Given the description of an element on the screen output the (x, y) to click on. 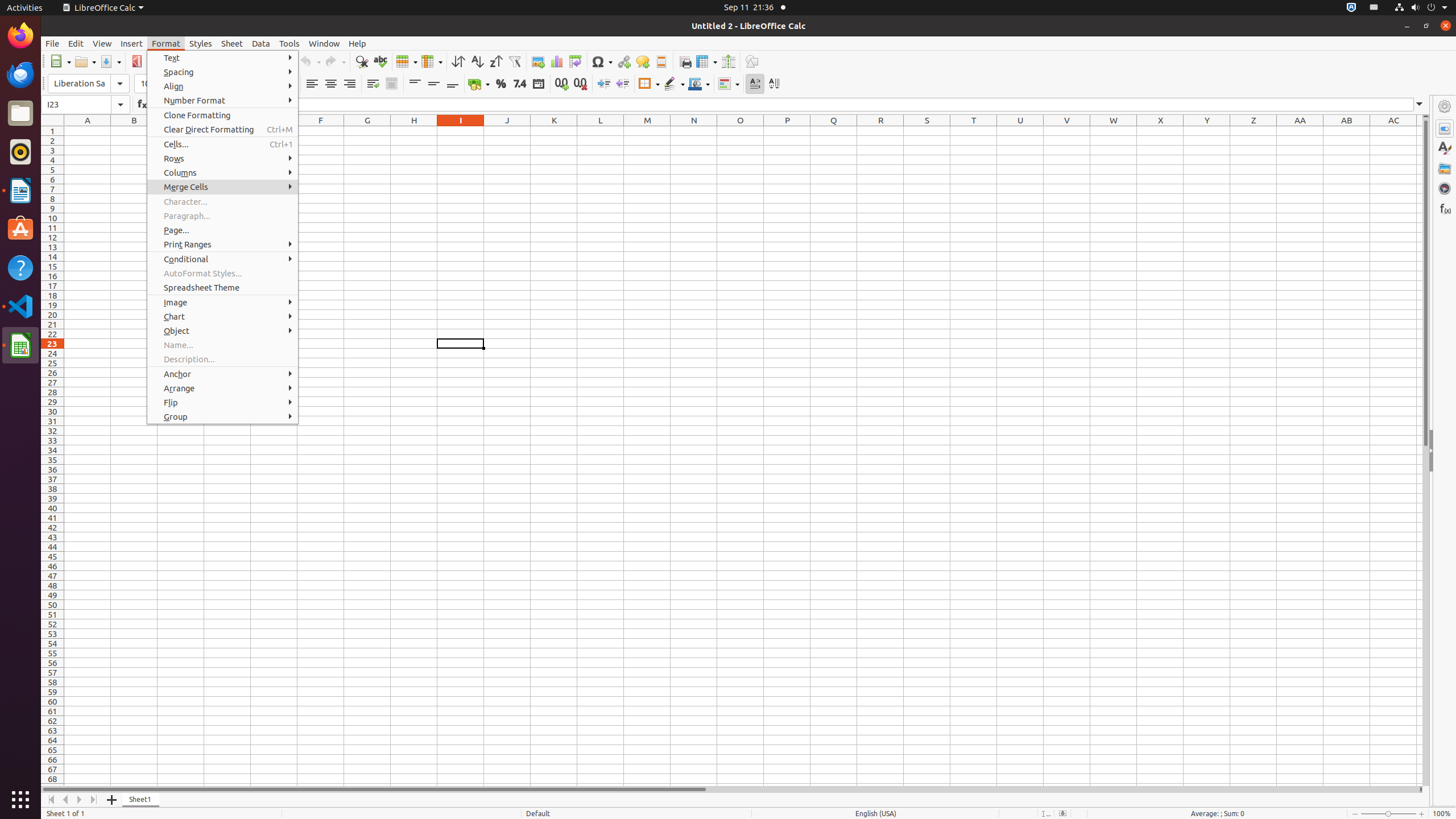
Date Element type: push-button (537, 83)
Edit Element type: menu (75, 43)
Center Vertically Element type: push-button (433, 83)
Activities Element type: label (24, 7)
Align Left Element type: push-button (311, 83)
